Given the description of an element on the screen output the (x, y) to click on. 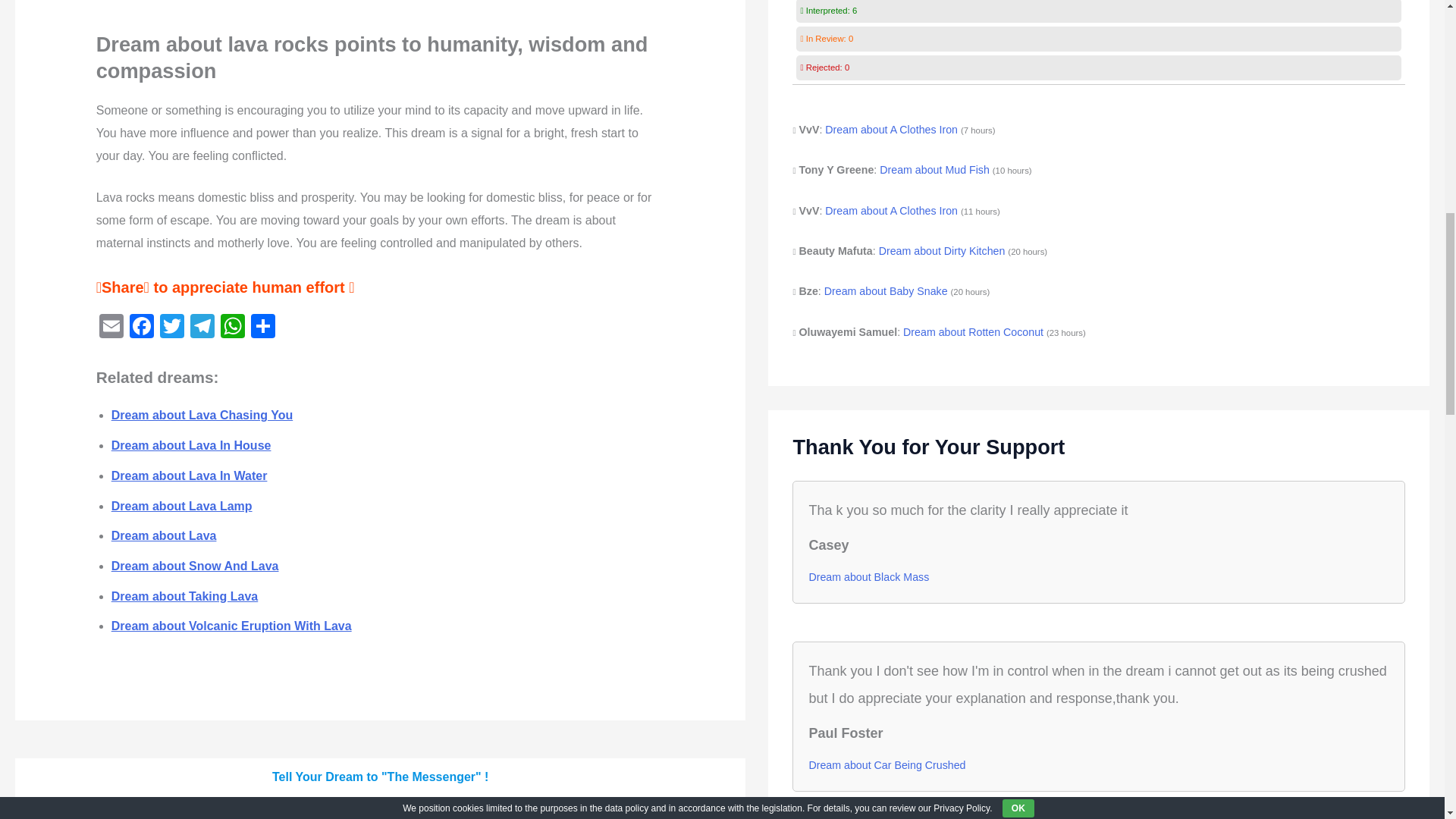
Dream about Volcanic Eruption With Lava (232, 625)
Email (111, 327)
Dream about Lava Chasing You (202, 414)
Dream about Taking Lava (185, 595)
Facebook (141, 327)
Share (262, 327)
WhatsApp (231, 327)
Twitter (172, 327)
Dream about Lava In Water (189, 475)
Dream about Lava In House (191, 445)
Dream about Lava Lamp (181, 504)
Dream about Snow And Lava (195, 565)
Telegram (201, 327)
Dream about Lava (164, 535)
Email (111, 327)
